Given the description of an element on the screen output the (x, y) to click on. 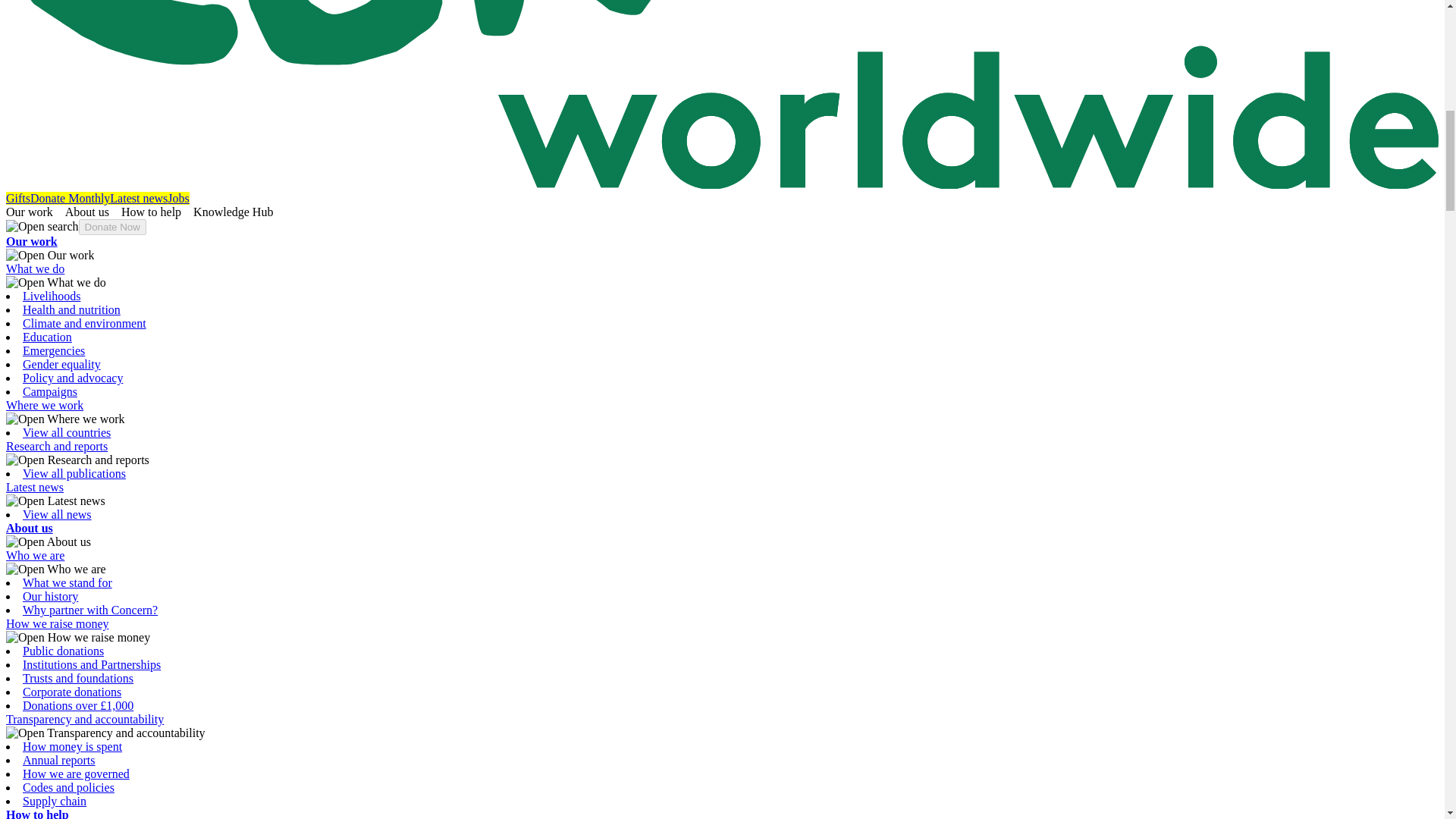
Knowledge Hub (239, 211)
Climate and environment (85, 323)
Where we work (43, 404)
Campaigns (50, 391)
Open Latest news (54, 500)
Emergencies (53, 350)
Research and reports (56, 445)
Donate Now (112, 227)
Education (47, 336)
Open How we raise money (77, 636)
Donate Monthly (70, 197)
Open Our work (49, 254)
Policy and advocacy (72, 377)
Health and nutrition (71, 309)
About us (28, 527)
